Given the description of an element on the screen output the (x, y) to click on. 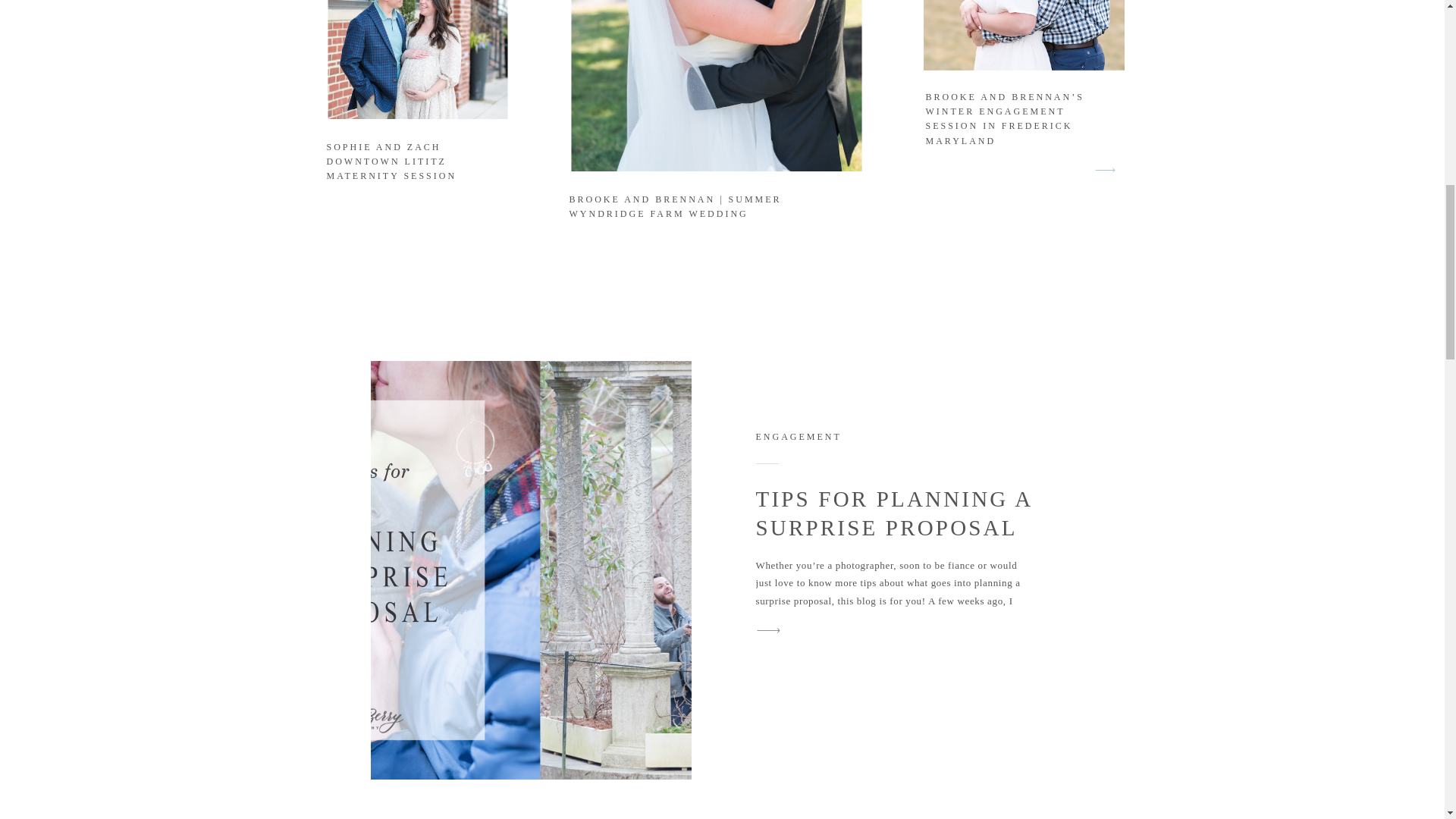
Sophie and Zach Downtown Lititz maternity session (417, 59)
ENGAGEMENT (798, 436)
arrow (768, 630)
arrow (1104, 170)
arrow (768, 630)
Tips for Planning a Surprise Proposal (768, 630)
SOPHIE AND ZACH DOWNTOWN LITITZ MATERNITY SESSION (391, 160)
TIPS FOR PLANNING A SURPRISE PROPOSAL (892, 512)
arrow (1104, 170)
